Given the description of an element on the screen output the (x, y) to click on. 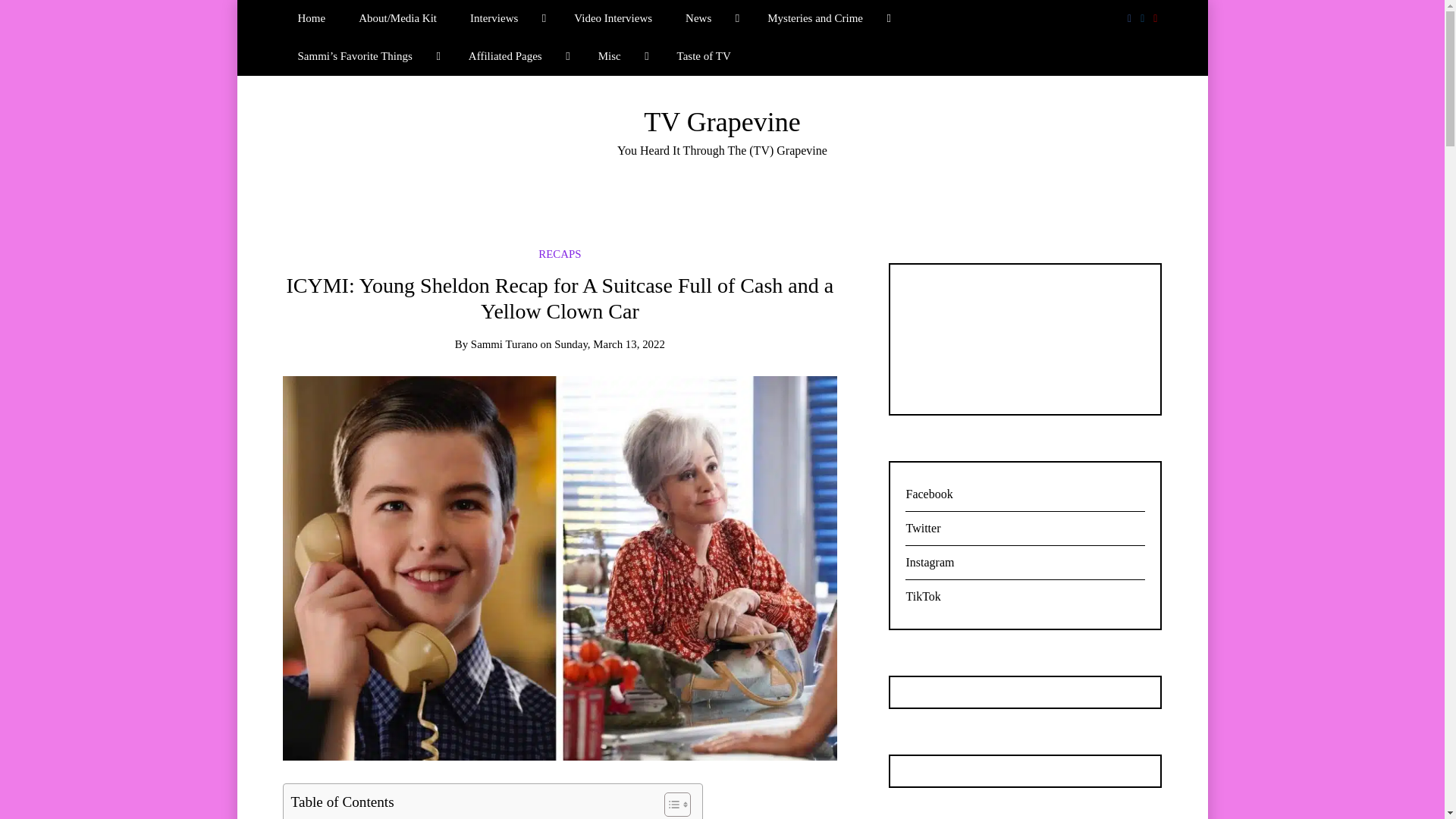
Home (311, 18)
Taste of TV (703, 56)
Interviews (505, 18)
Video Interviews (612, 18)
News (709, 18)
Mysteries and Crime (826, 18)
Posts by Sammi Turano (503, 344)
Affiliated Pages (515, 56)
